Given the description of an element on the screen output the (x, y) to click on. 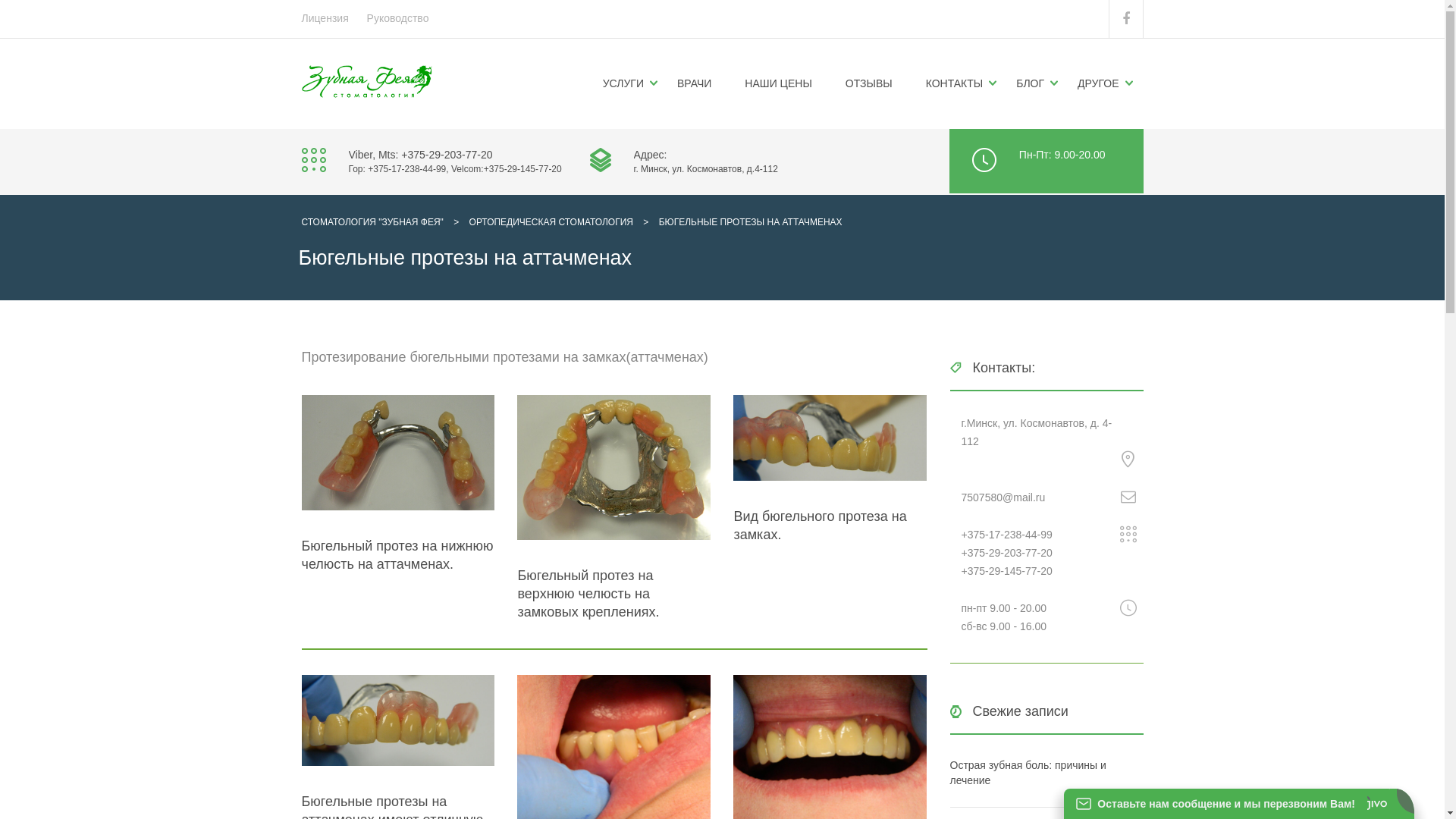
7507580@mail.ru Element type: text (1003, 497)
